Given the description of an element on the screen output the (x, y) to click on. 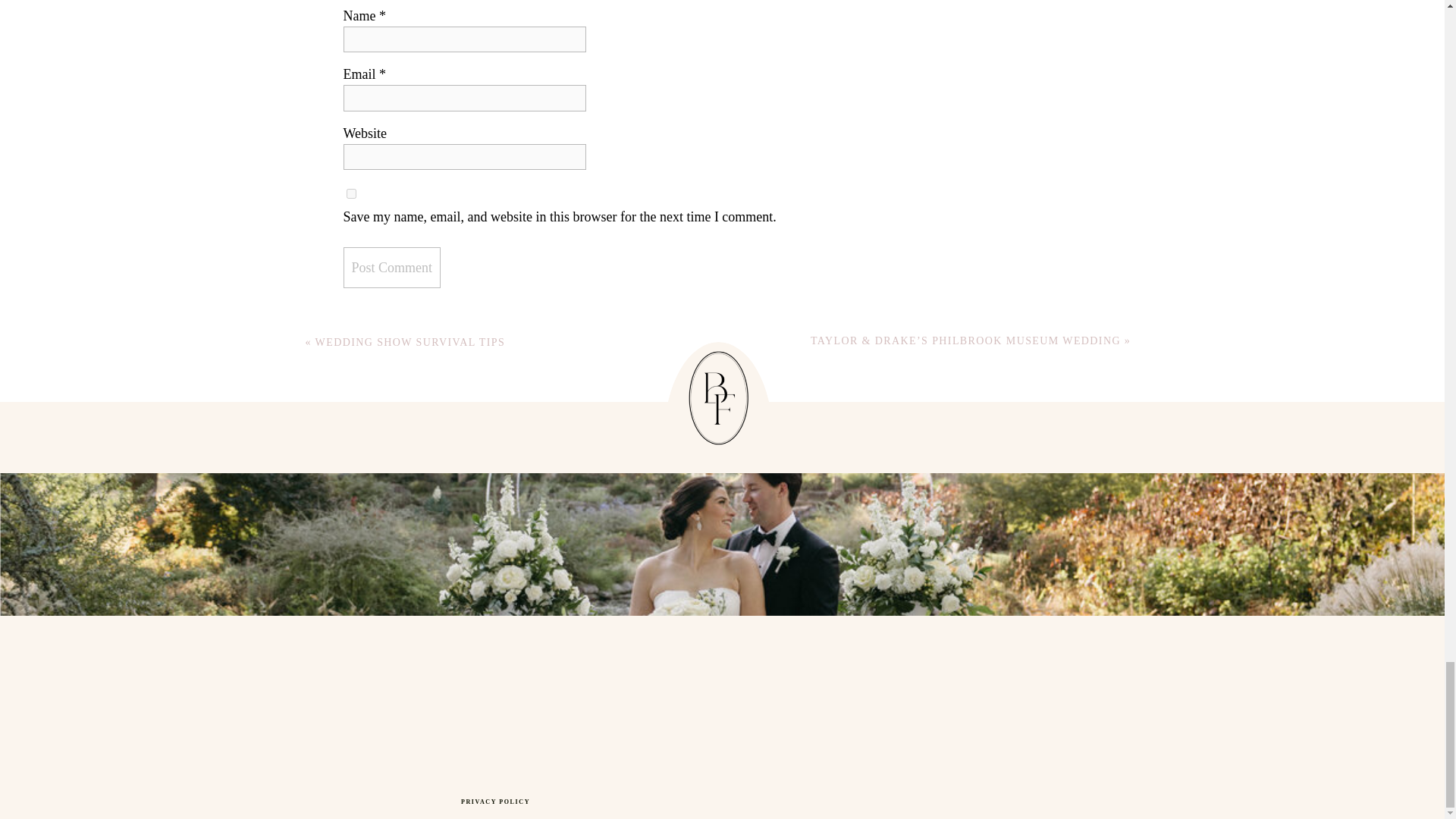
Post Comment (391, 267)
WEDDING SHOW SURVIVAL TIPS (410, 342)
PRIVACY POLICY (495, 801)
Post Comment (391, 267)
yes (350, 194)
